Given the description of an element on the screen output the (x, y) to click on. 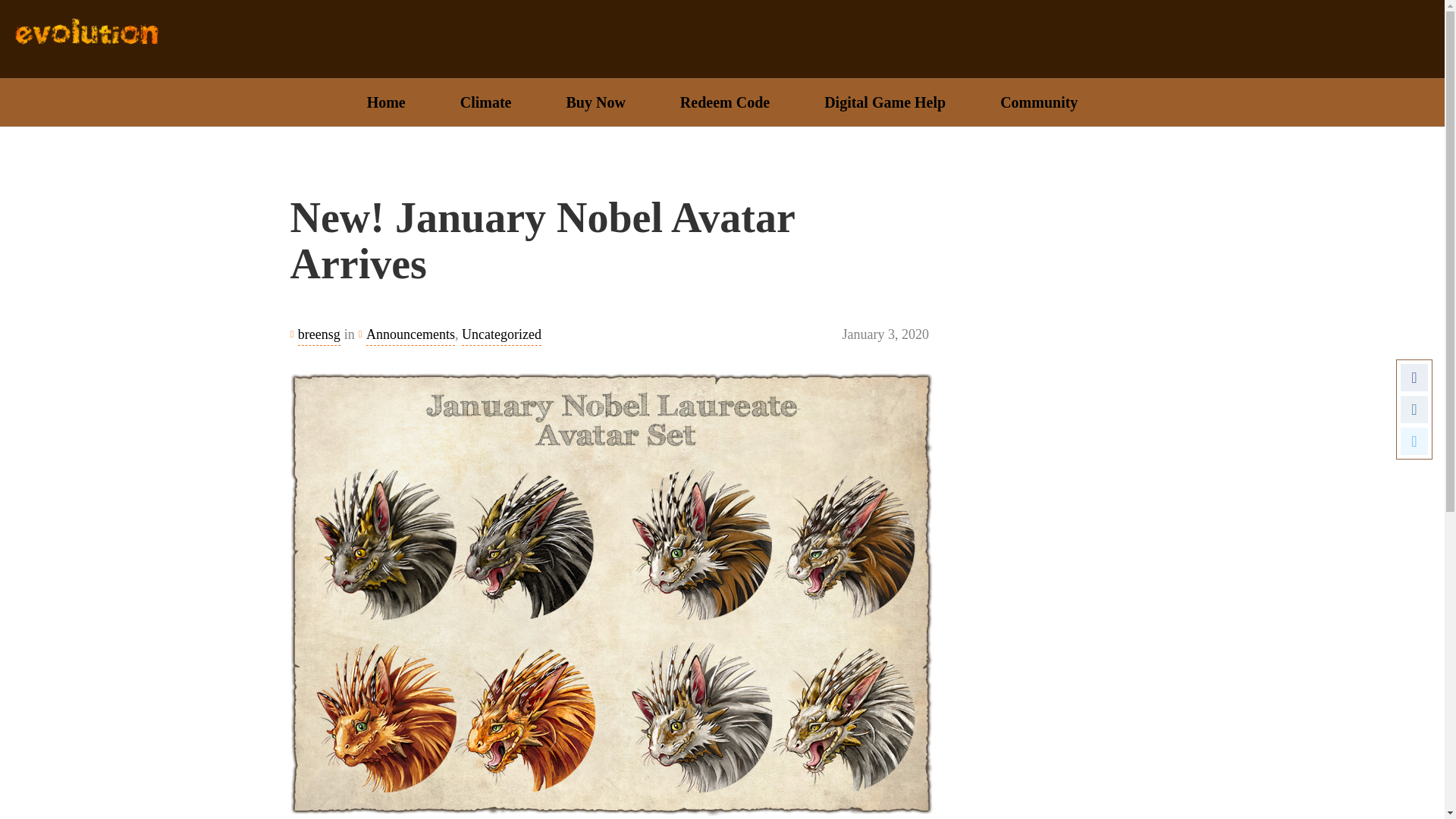
Announcements (410, 334)
breensg (319, 334)
Home (385, 101)
Climate (485, 101)
Community (1038, 101)
Uncategorized (501, 334)
Redeem Code (724, 101)
Buy Now (595, 101)
Digital Game Help (884, 101)
